Given the description of an element on the screen output the (x, y) to click on. 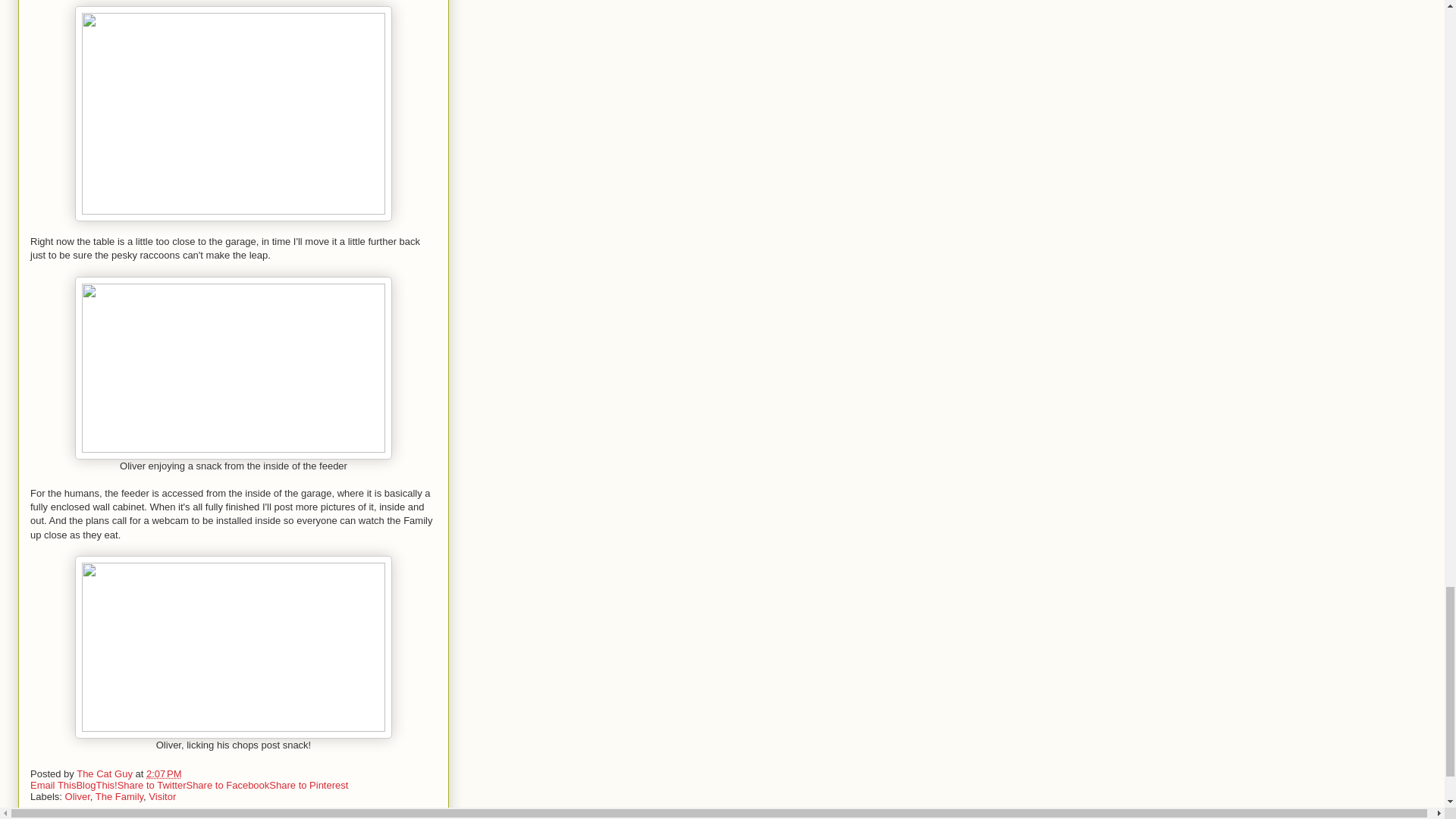
Email Post (191, 773)
Oliver (77, 796)
The Cat Guy (106, 773)
BlogThis! (95, 785)
Visitor (162, 796)
author profile (106, 773)
Share to Pinterest (308, 785)
BlogThis! (95, 785)
Share to Facebook (227, 785)
Share to Twitter (151, 785)
Email This (52, 785)
The Family (119, 796)
Share to Pinterest (308, 785)
Share to Facebook (227, 785)
